Given the description of an element on the screen output the (x, y) to click on. 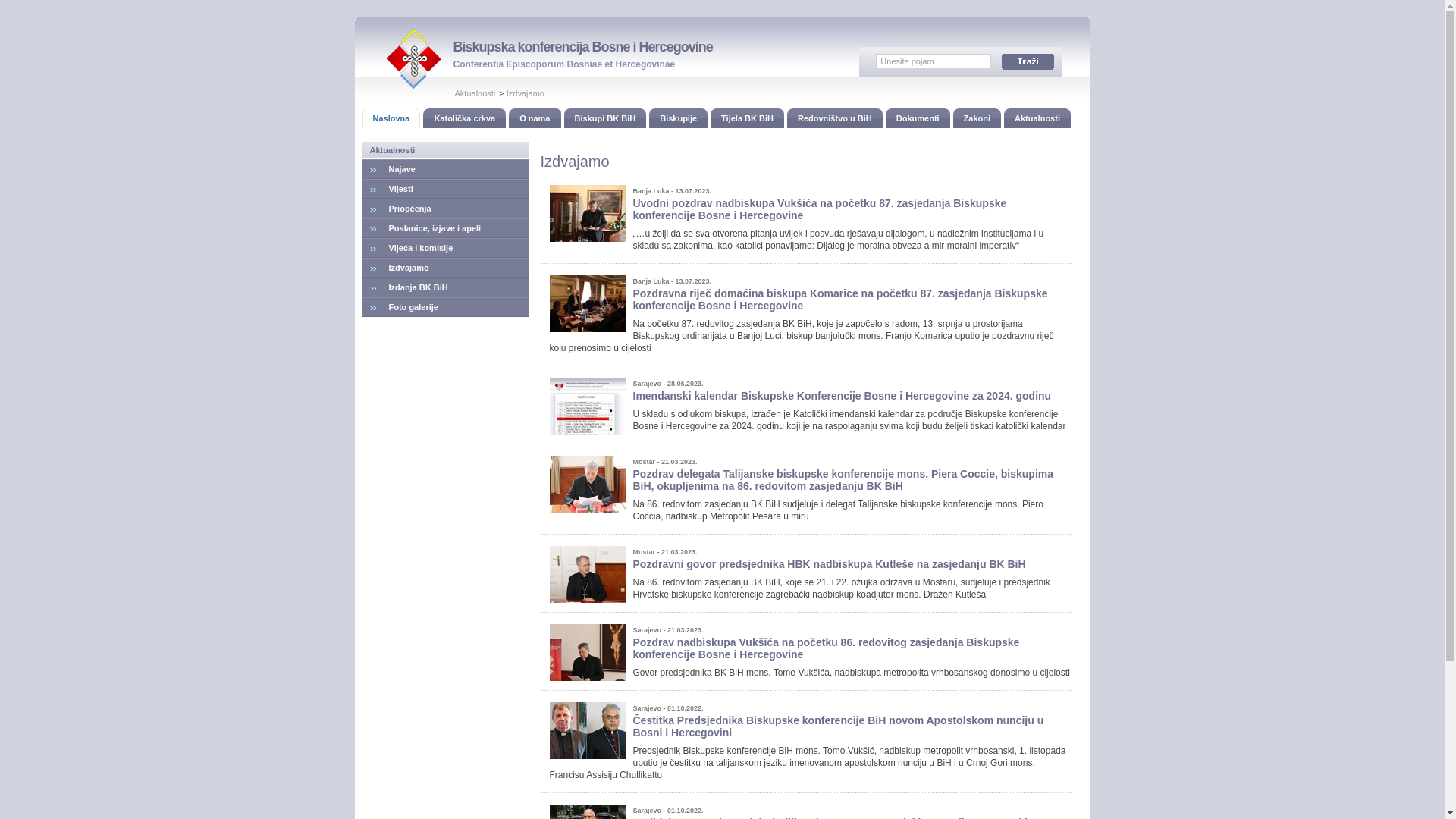
Biskupije Element type: text (678, 117)
Tijela BK BiH Element type: text (747, 117)
Unesite pojam Element type: hover (933, 61)
Izdvajamo Element type: text (445, 267)
Najave Element type: text (445, 169)
Izdanja BK BiH Element type: text (445, 287)
Naslovna Element type: text (391, 117)
Aktualnosti Element type: text (475, 92)
Biskupi BK BiH Element type: text (605, 117)
Aktualnosti Element type: text (1037, 117)
Izdvajamo Element type: text (525, 92)
Poslanice, izjave i apeli Element type: text (445, 228)
Zakoni Element type: text (977, 117)
O nama Element type: text (534, 117)
Dokumenti Element type: text (917, 117)
Vijesti Element type: text (445, 188)
Foto galerije Element type: text (445, 307)
